Given the description of an element on the screen output the (x, y) to click on. 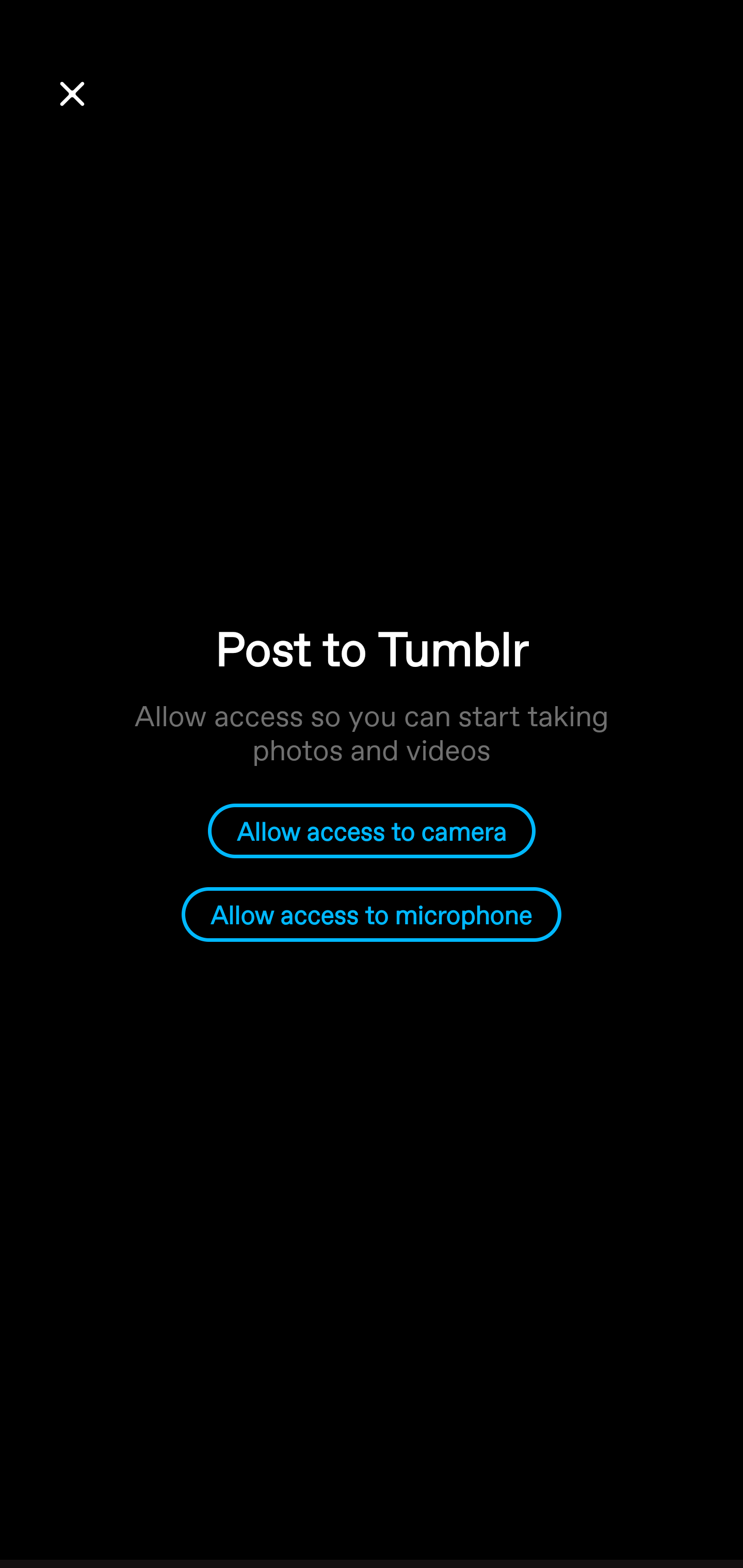
Allow access to camera (371, 829)
Allow access to microphone (371, 914)
